Given the description of an element on the screen output the (x, y) to click on. 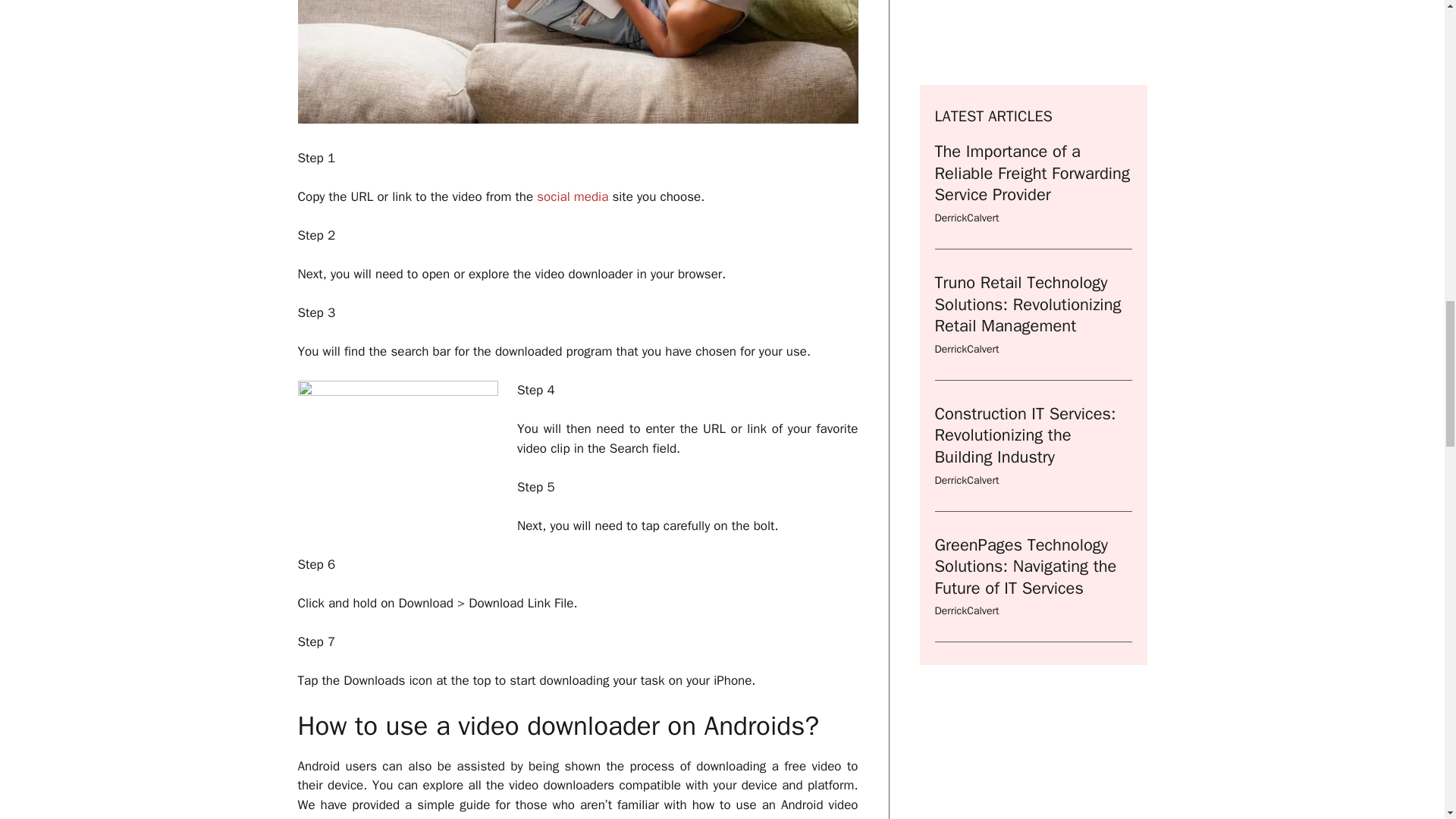
social media (572, 196)
